Given the description of an element on the screen output the (x, y) to click on. 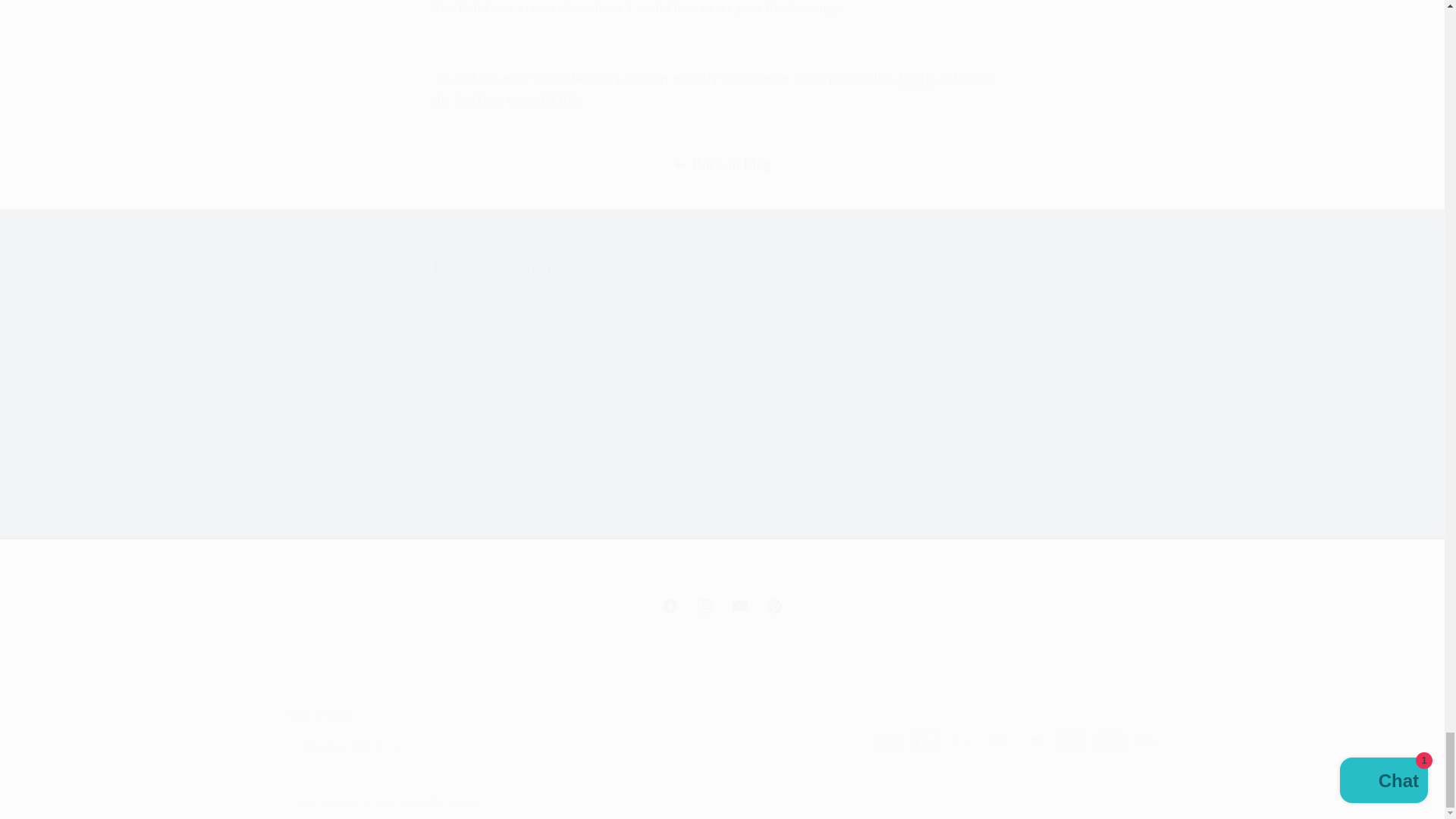
Post comment (494, 506)
